Given the description of an element on the screen output the (x, y) to click on. 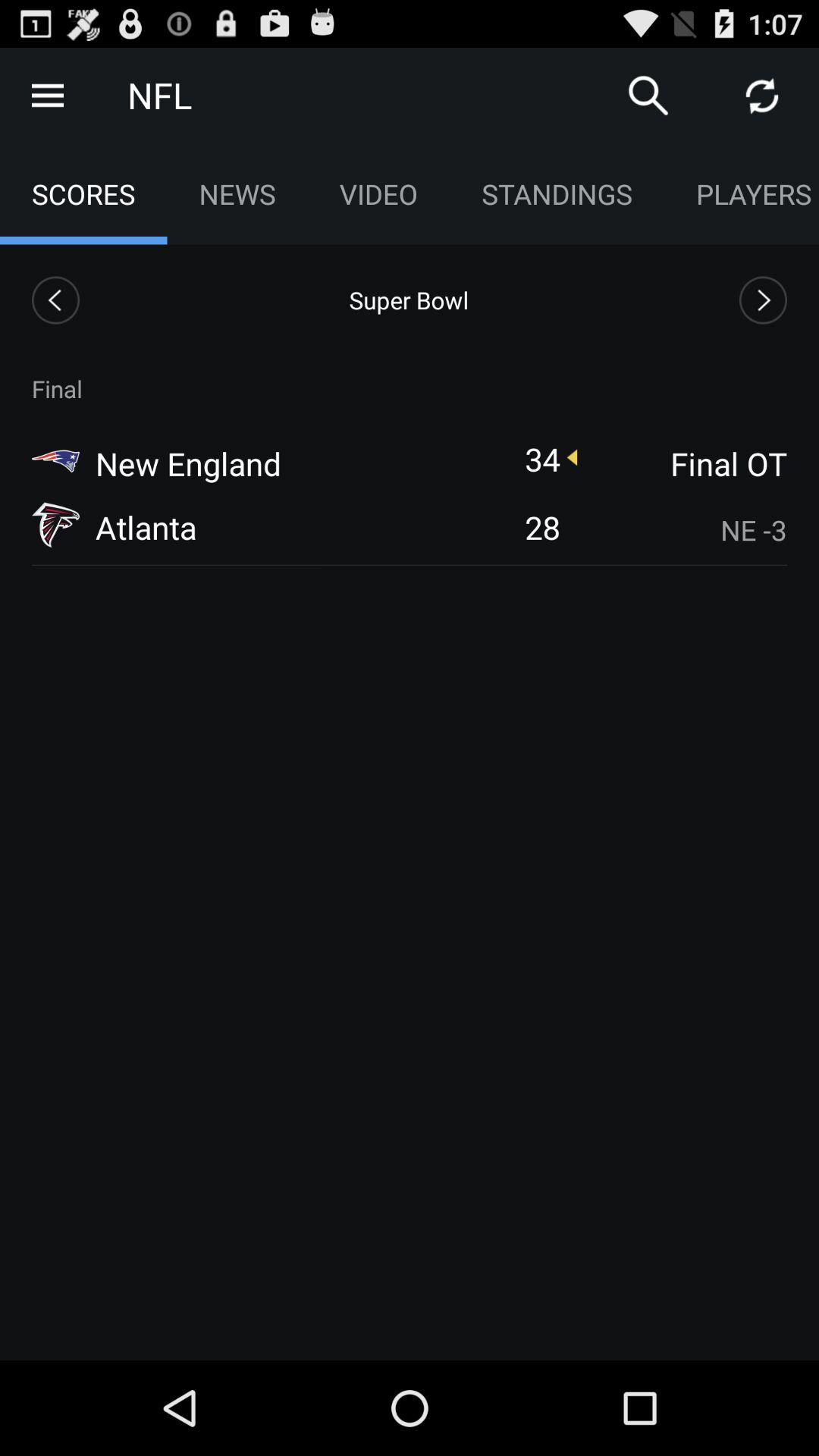
turn off the app next to news icon (378, 193)
